Given the description of an element on the screen output the (x, y) to click on. 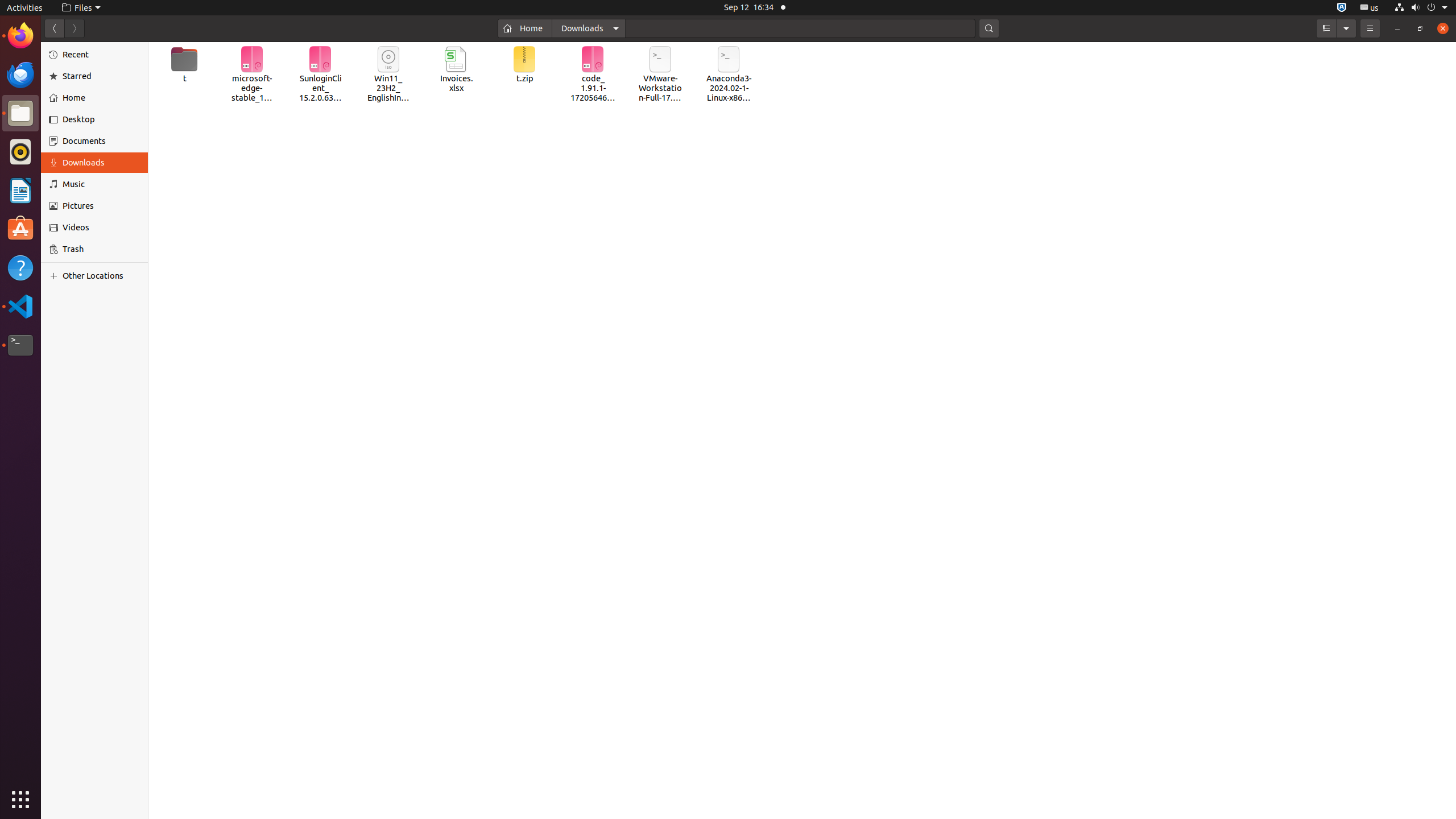
Icon View Element type: layered-pane (802, 430)
Documents Element type: label (100, 140)
Terminal Element type: push-button (20, 344)
Videos Element type: label (100, 227)
Downloads Element type: label (100, 162)
